Given the description of an element on the screen output the (x, y) to click on. 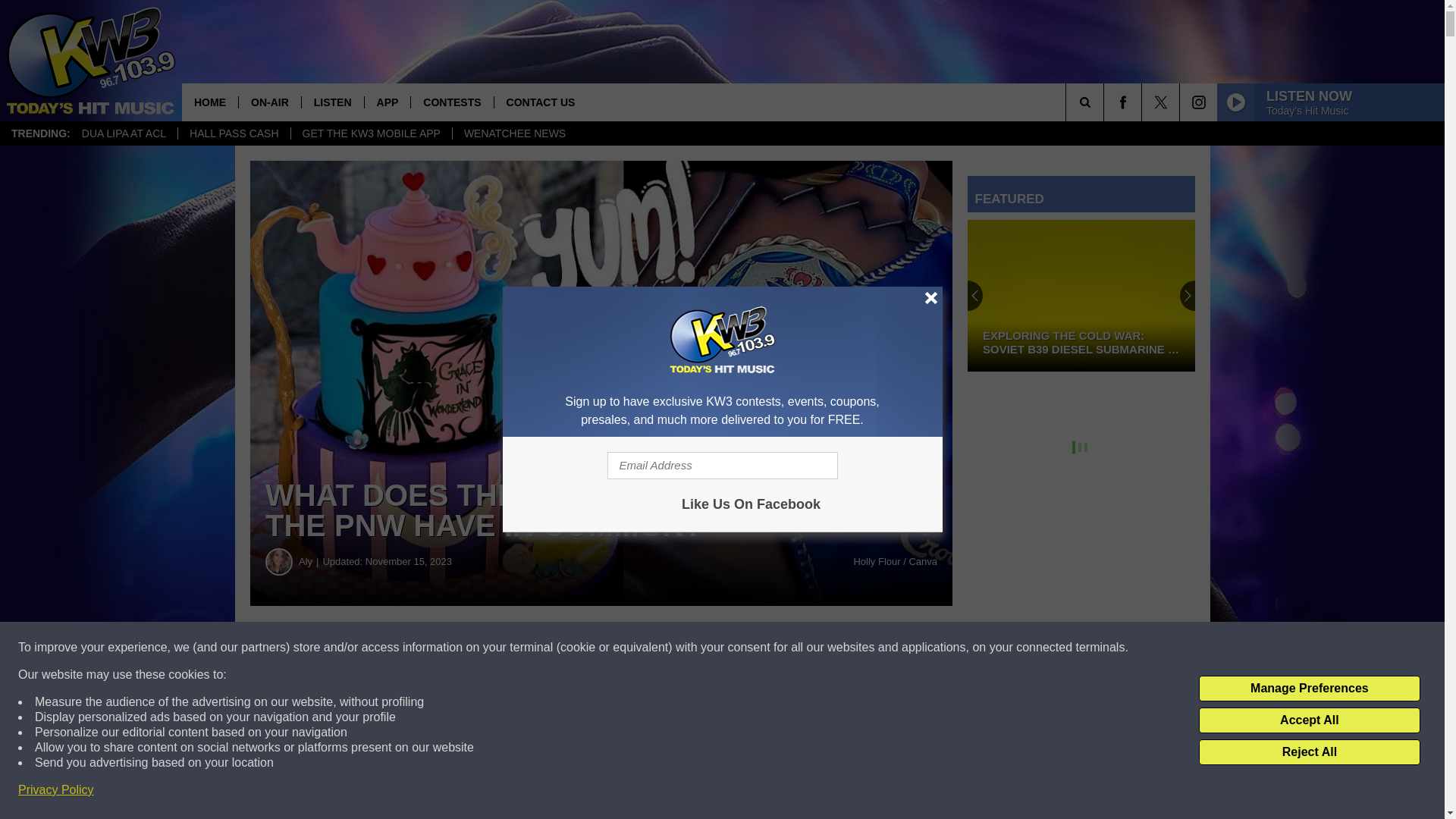
Share on Facebook (460, 647)
ON-AIR (269, 102)
Privacy Policy (55, 789)
HOME (210, 102)
Accept All (1309, 720)
Email Address (722, 465)
APP (387, 102)
LISTEN (332, 102)
HALL PASS CASH (233, 133)
SEARCH (1106, 102)
WENATCHEE NEWS (513, 133)
SEARCH (1106, 102)
CONTACT US (540, 102)
Share on Twitter (741, 647)
GET THE KW3 MOBILE APP (370, 133)
